Given the description of an element on the screen output the (x, y) to click on. 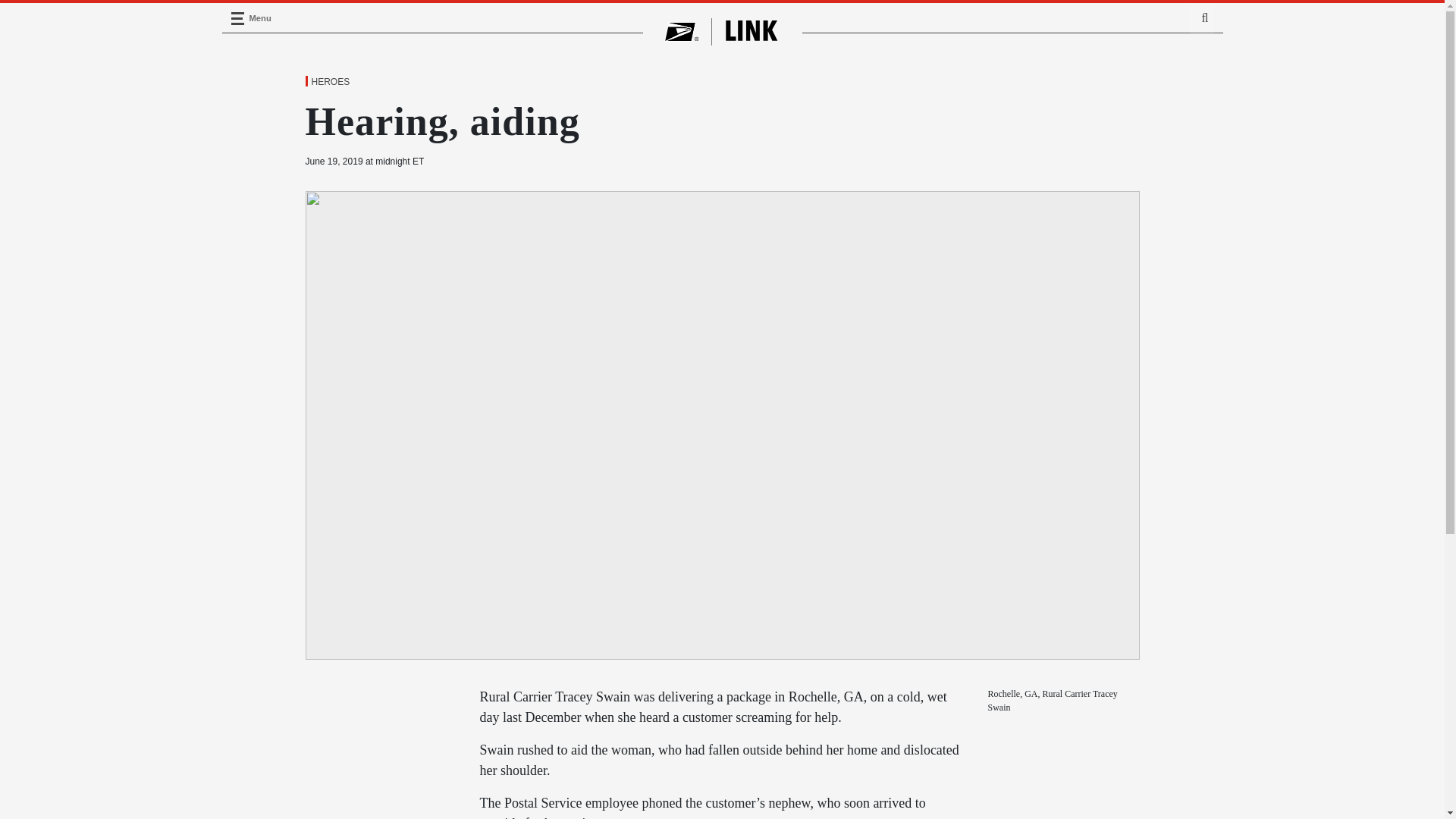
Menu (237, 18)
HEROES (329, 81)
